Given the description of an element on the screen output the (x, y) to click on. 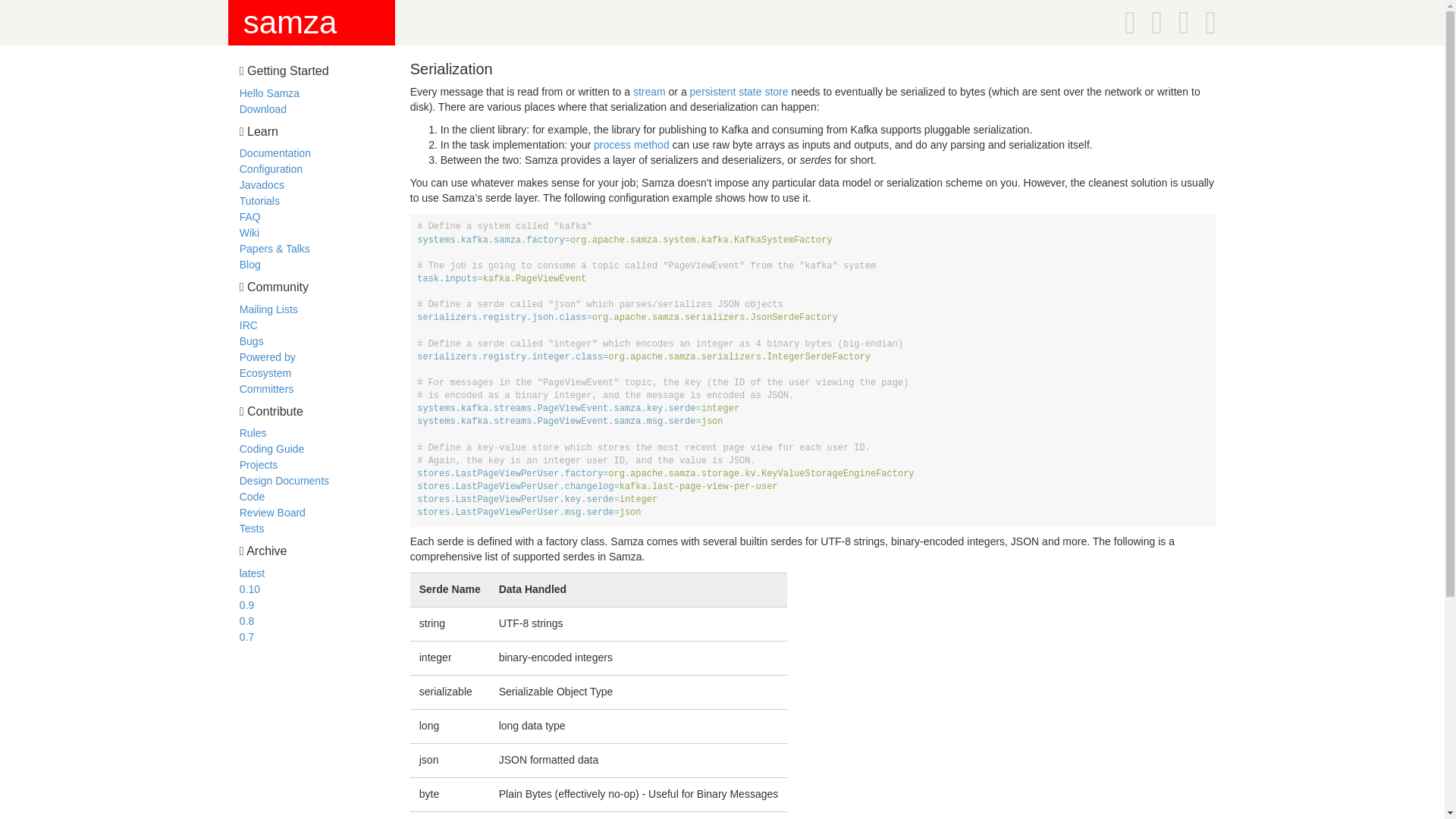
Ecosystem (265, 372)
Hello Samza (269, 92)
persistent state store (739, 91)
Mailing Lists (269, 309)
samza (290, 22)
Tests (252, 528)
IRC (248, 325)
Code (252, 496)
Download (263, 109)
0.8 (246, 621)
Coding Guide (272, 449)
latest (252, 573)
Blog (250, 264)
Projects (259, 464)
FAQ (250, 216)
